Given the description of an element on the screen output the (x, y) to click on. 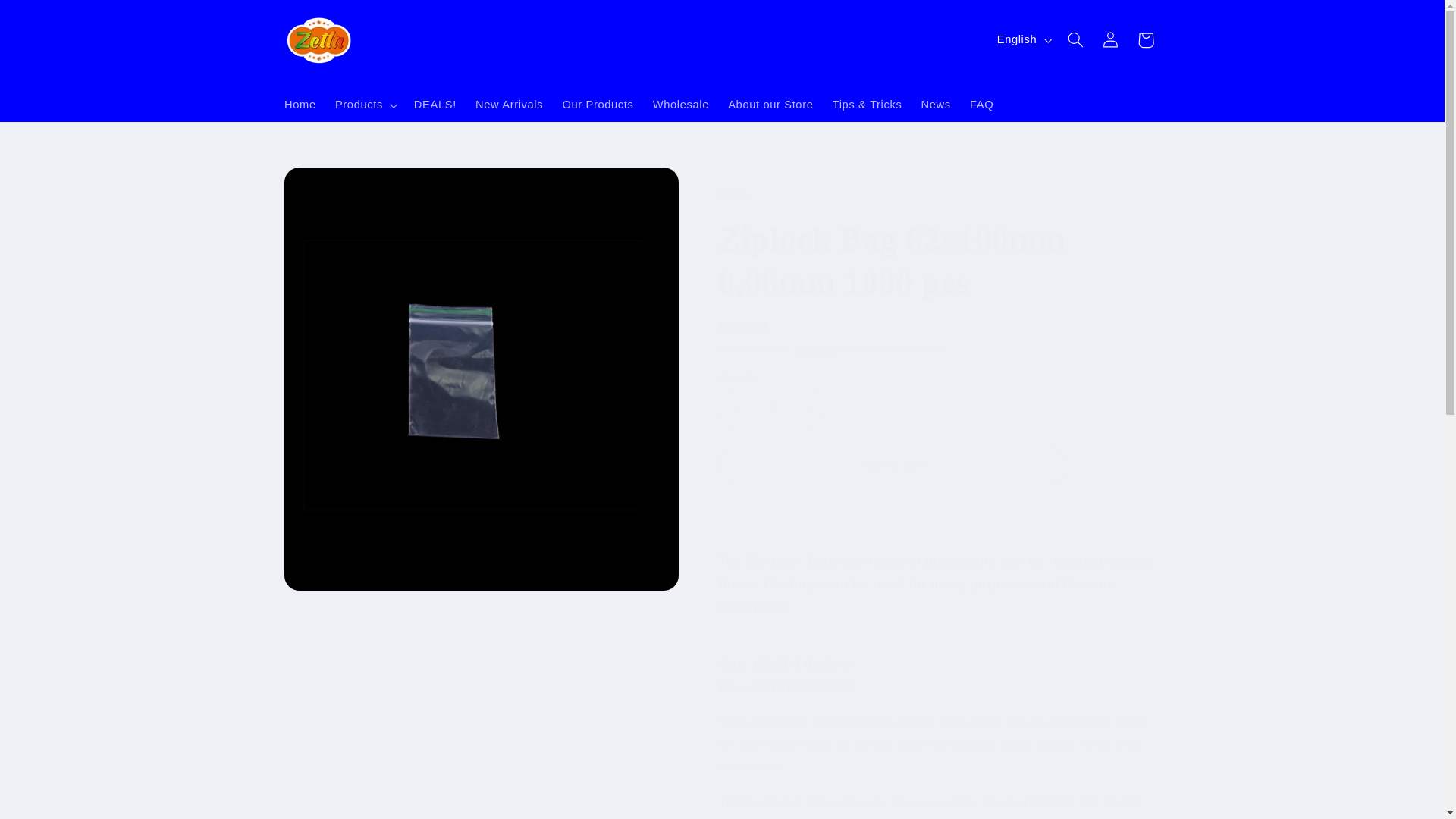
Skip to content (48, 18)
1 (771, 408)
